Given the description of an element on the screen output the (x, y) to click on. 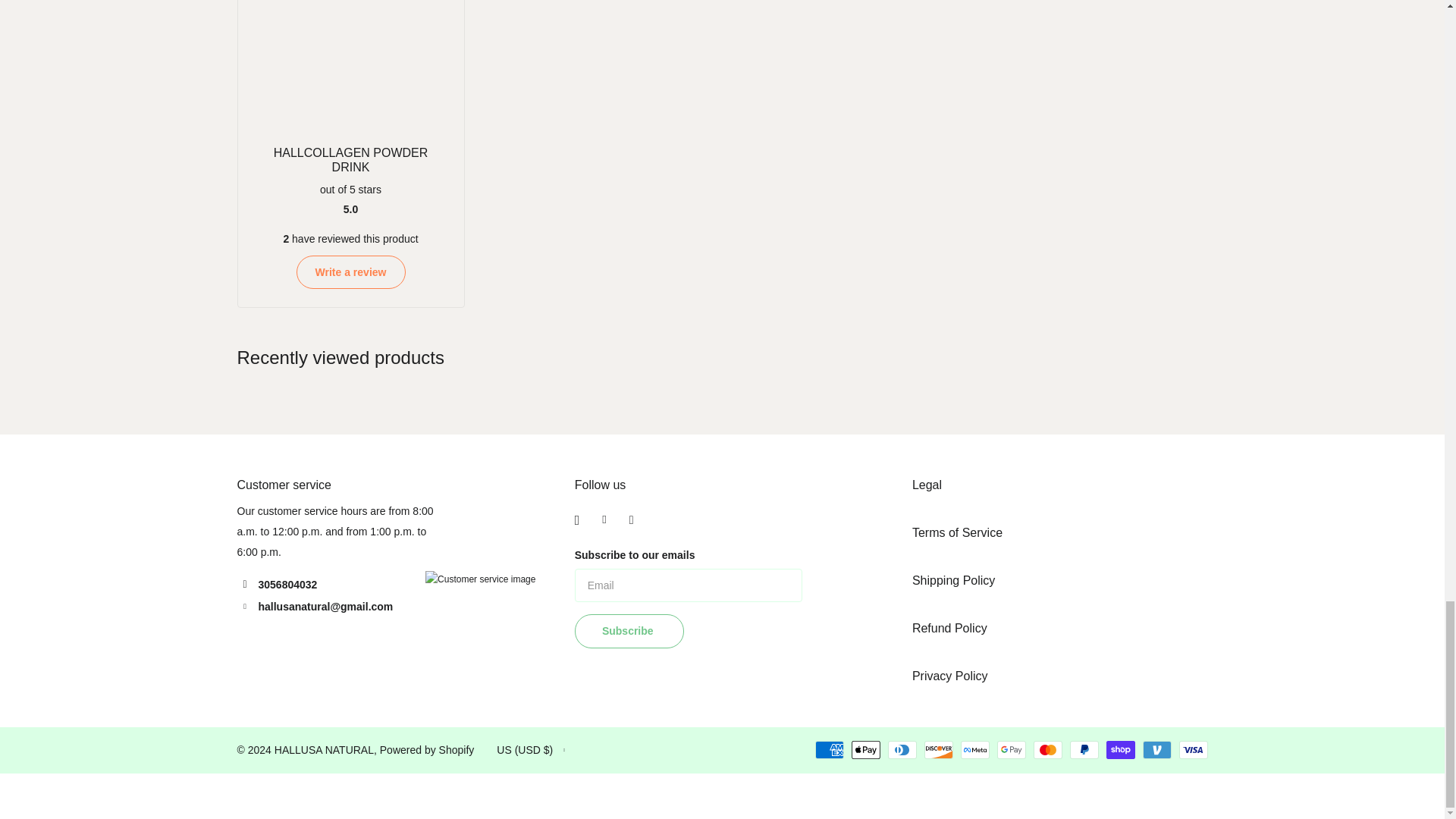
Mastercard (1046, 750)
Refund Policy (949, 627)
Venmo (1155, 750)
Visa (1192, 750)
Privacy Policy (950, 675)
Meta Pay (973, 750)
American Express (828, 750)
PayPal (1082, 750)
Shop Pay (1119, 750)
Discover (937, 750)
Diners Club (900, 750)
Apple Pay (864, 750)
Terms of Service (957, 532)
Shipping Policy (953, 580)
Google Pay (1010, 750)
